Given the description of an element on the screen output the (x, y) to click on. 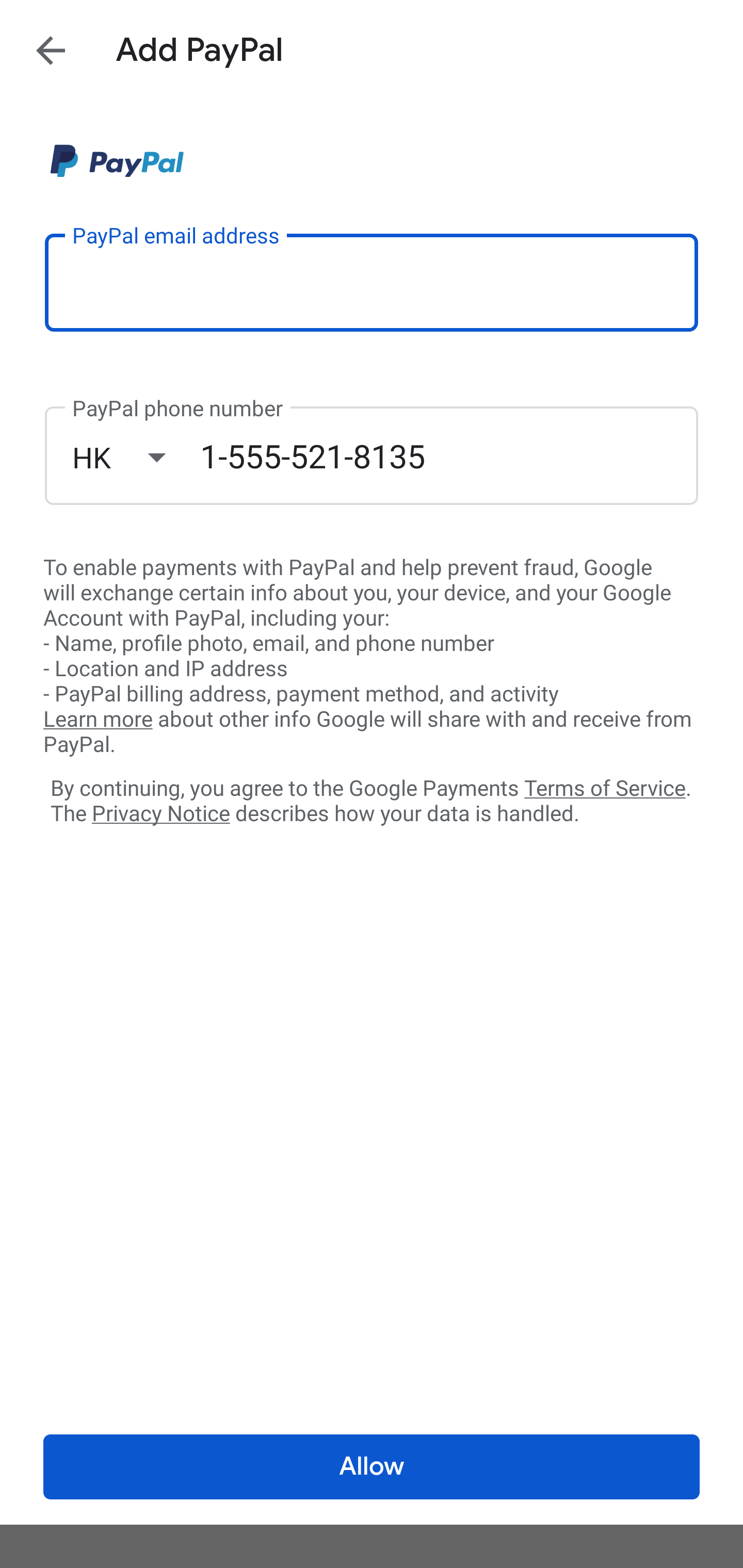
Navigate up (50, 50)
PayPal email address (371, 282)
HK (135, 456)
Learn more (97, 719)
Terms of Service (604, 787)
Privacy Notice (160, 814)
Allow (371, 1466)
